Given the description of an element on the screen output the (x, y) to click on. 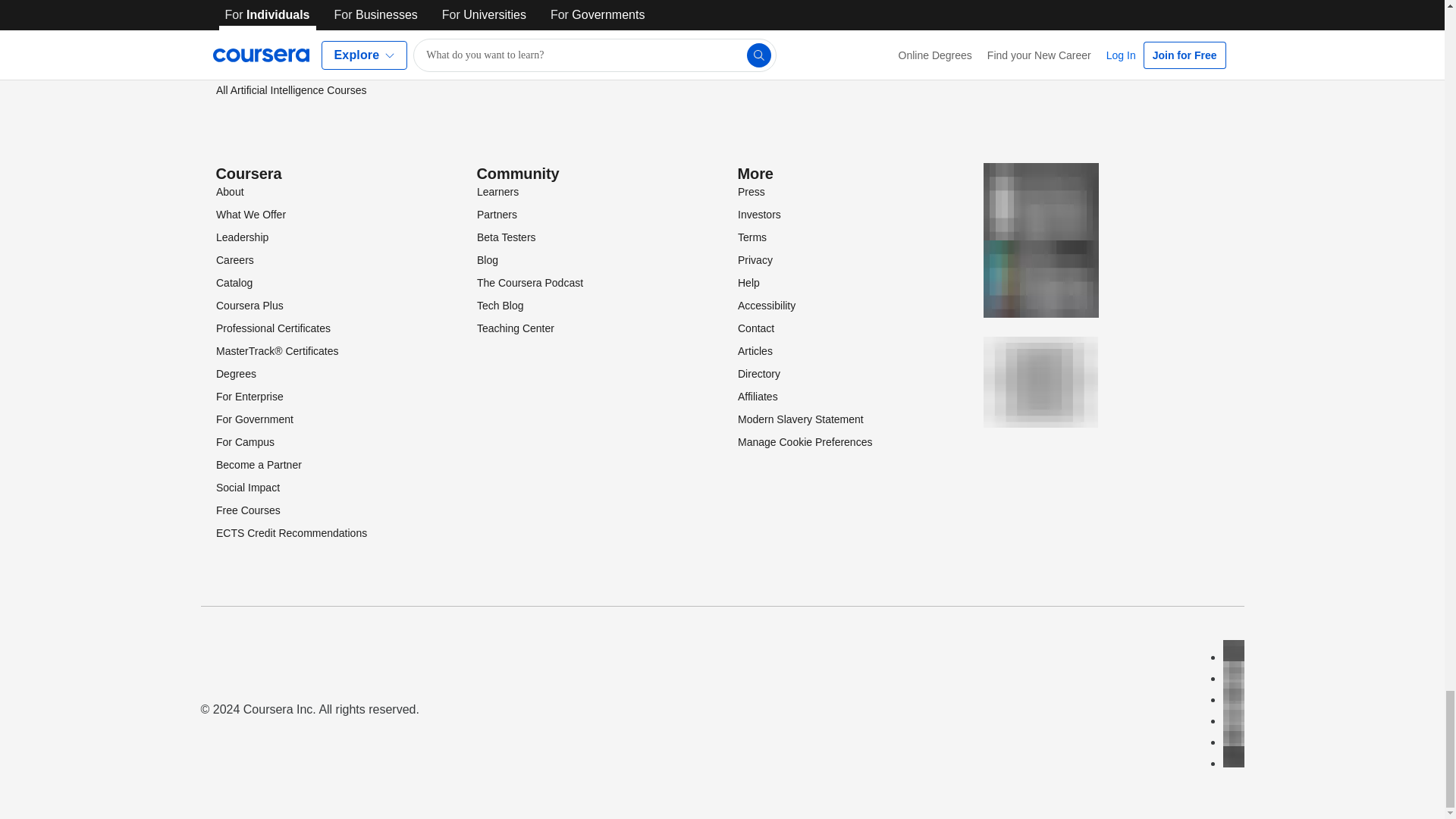
Stanford Machine Learning Specialization (312, 29)
IBM AI Product Manager Professional Certificate (303, 6)
Vanderbilt Prompt Engineering for ChatGPT Course (318, 59)
All Artificial Intelligence Courses (290, 90)
